Given the description of an element on the screen output the (x, y) to click on. 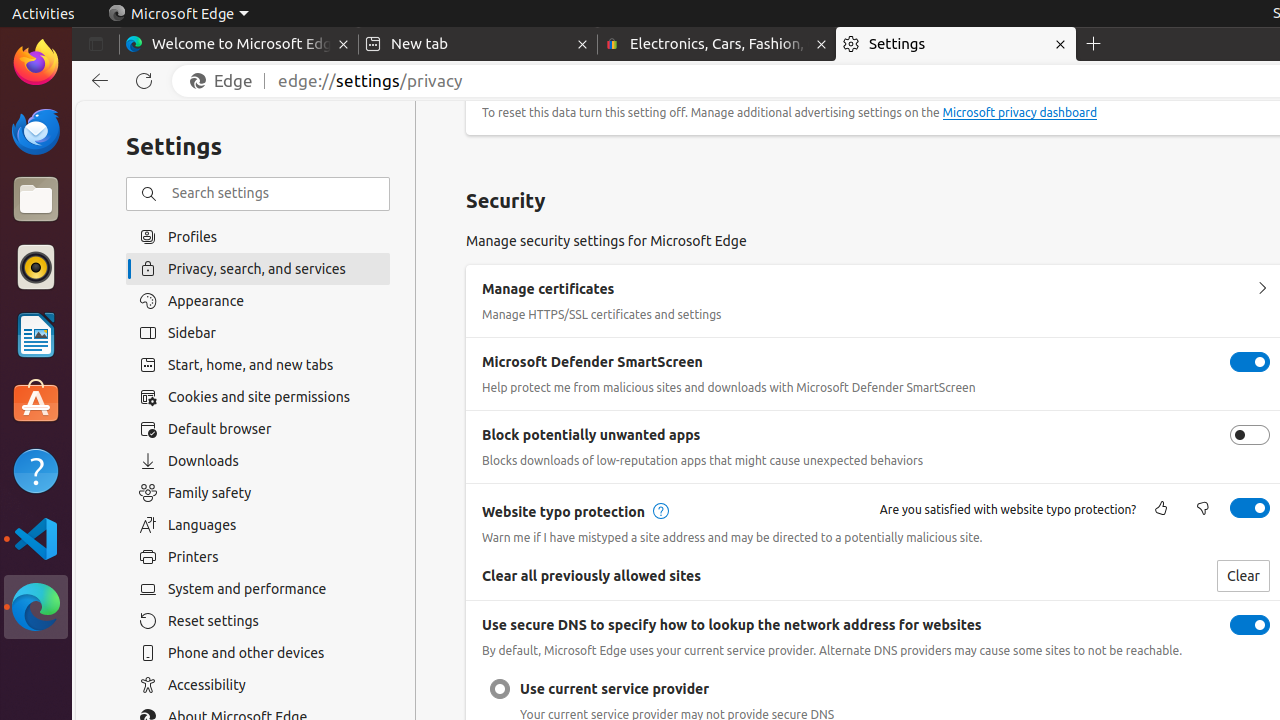
Tab actions menu Element type: push-button (96, 44)
Edge Element type: push-button (226, 81)
Files Element type: push-button (36, 199)
Close tab Element type: push-button (343, 44)
Use secure DNS to specify how to lookup the network address for websites Element type: check-box (1250, 625)
